Given the description of an element on the screen output the (x, y) to click on. 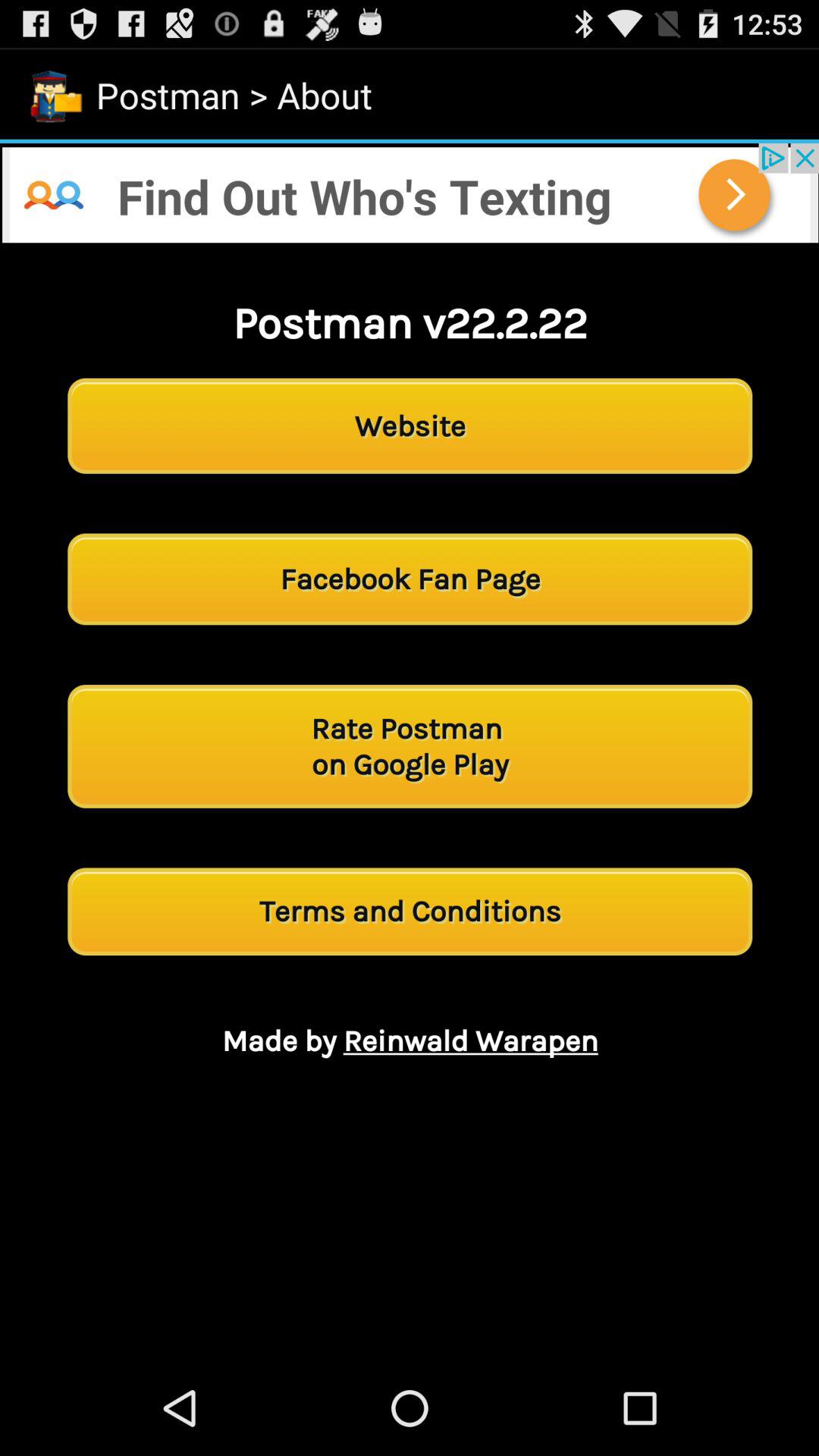
search (409, 192)
